Given the description of an element on the screen output the (x, y) to click on. 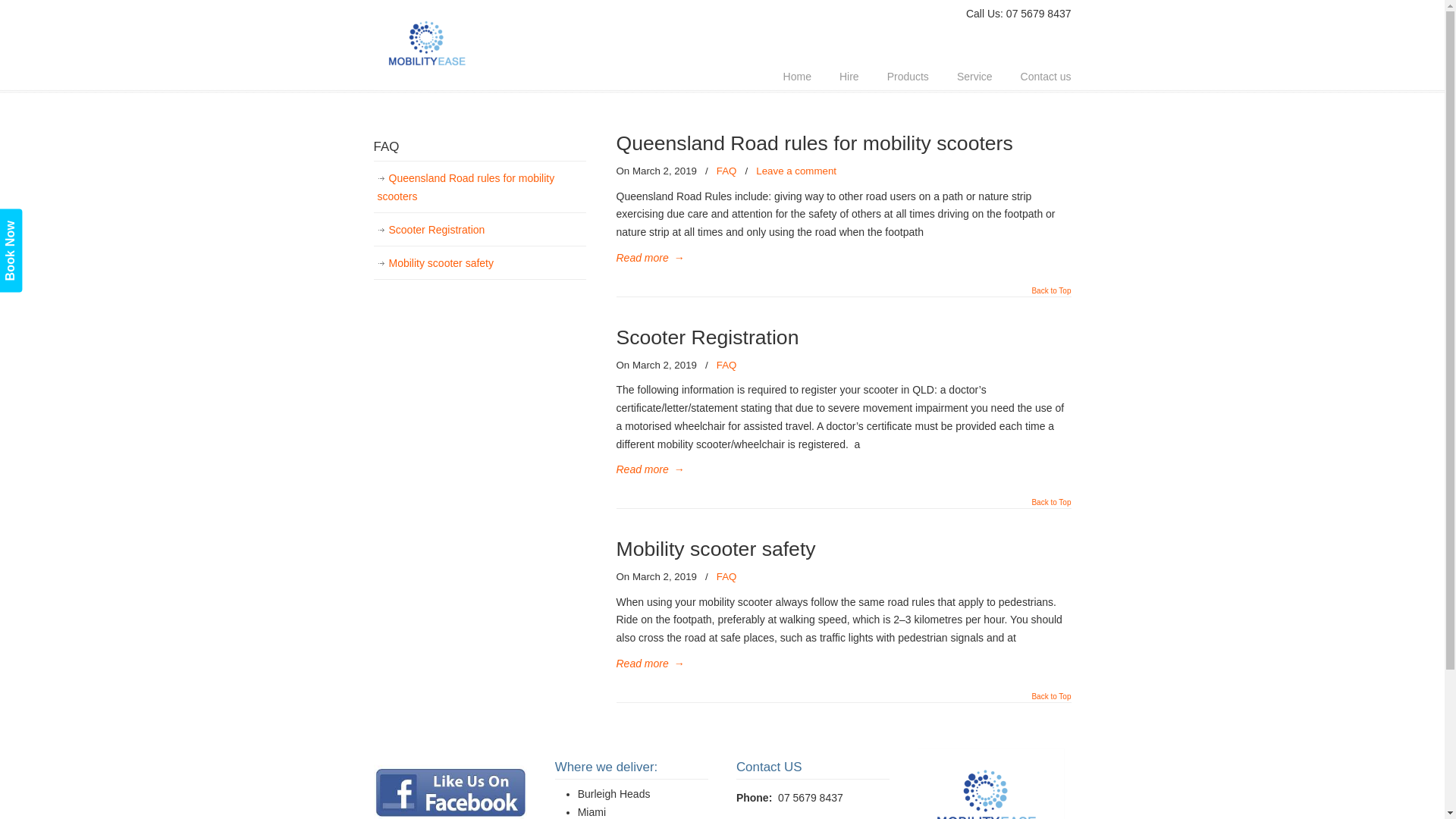
Back to Top Element type: text (1050, 506)
Service Element type: text (974, 76)
Scooter Registration Element type: text (479, 230)
Scooter Registration Element type: text (706, 337)
Back to Top Element type: text (1050, 294)
Mobility Ease Element type: text (429, 47)
Leave a comment Element type: text (796, 171)
Mobility scooter safety Element type: text (479, 263)
Hire Element type: text (849, 76)
Home Element type: text (797, 76)
Mobility scooter safety Element type: text (715, 548)
Queensland Road rules for mobility scooters Element type: text (813, 142)
Contact us Element type: text (1045, 76)
FAQ Element type: text (726, 171)
FAQ Element type: text (726, 577)
Queensland Road rules for mobility scooters Element type: text (479, 187)
Back to Top Element type: text (1050, 700)
Products Element type: text (908, 76)
FAQ Element type: text (726, 365)
